Given the description of an element on the screen output the (x, y) to click on. 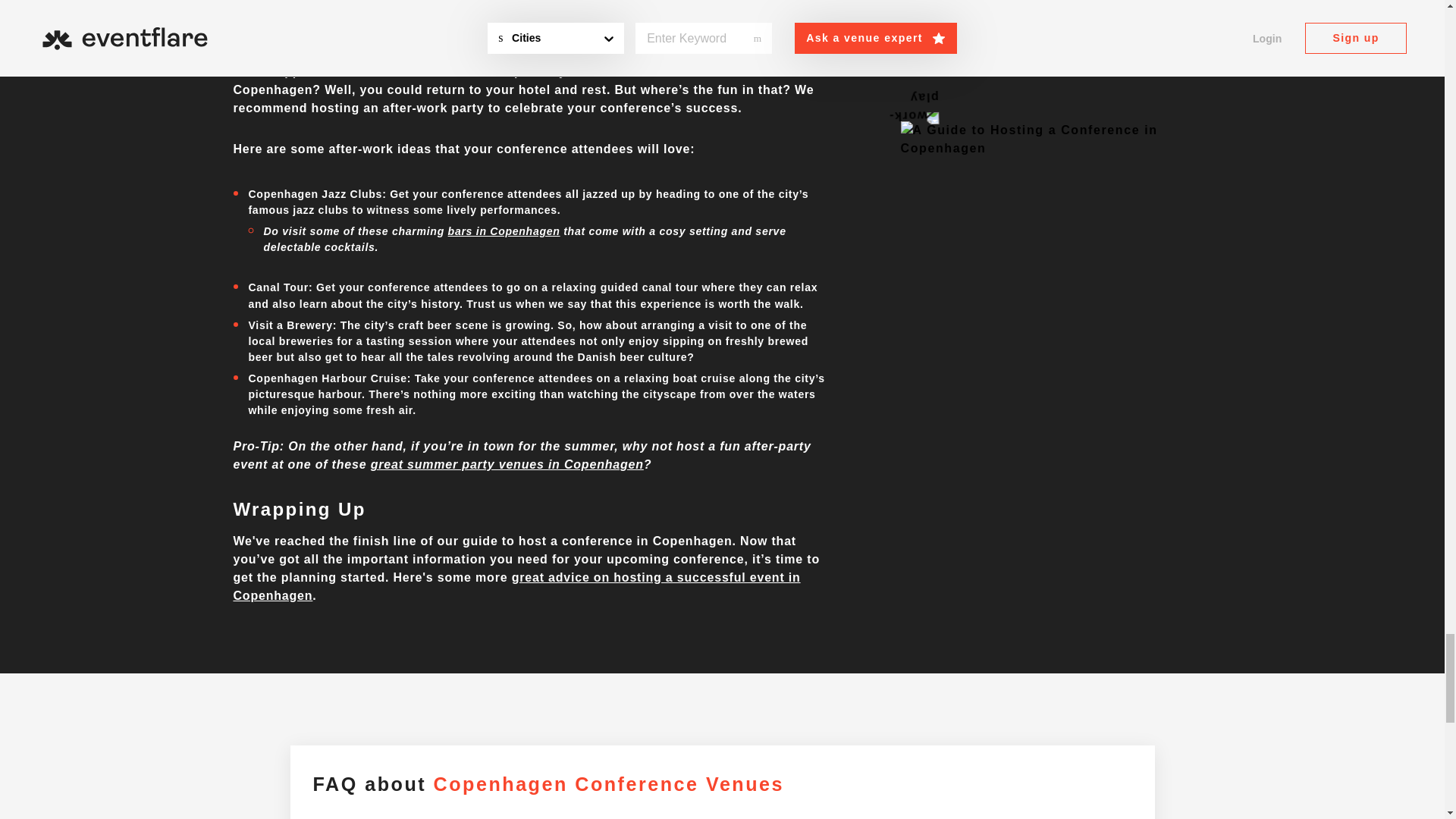
great advice on hosting a successful event in Copenhagen (515, 585)
great summer party venues in Copenhagen (507, 463)
bars in Copenhagen (504, 231)
